Given the description of an element on the screen output the (x, y) to click on. 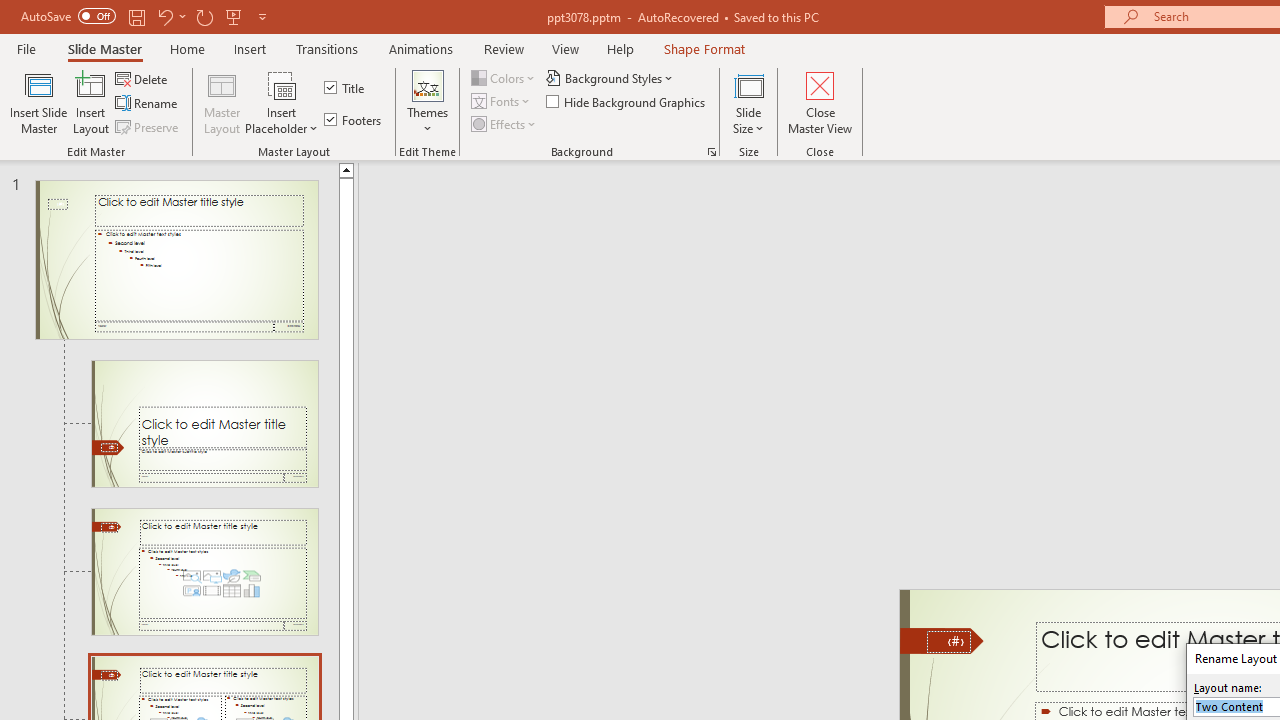
Insert Layout (91, 102)
Insert Placeholder (282, 102)
